Given the description of an element on the screen output the (x, y) to click on. 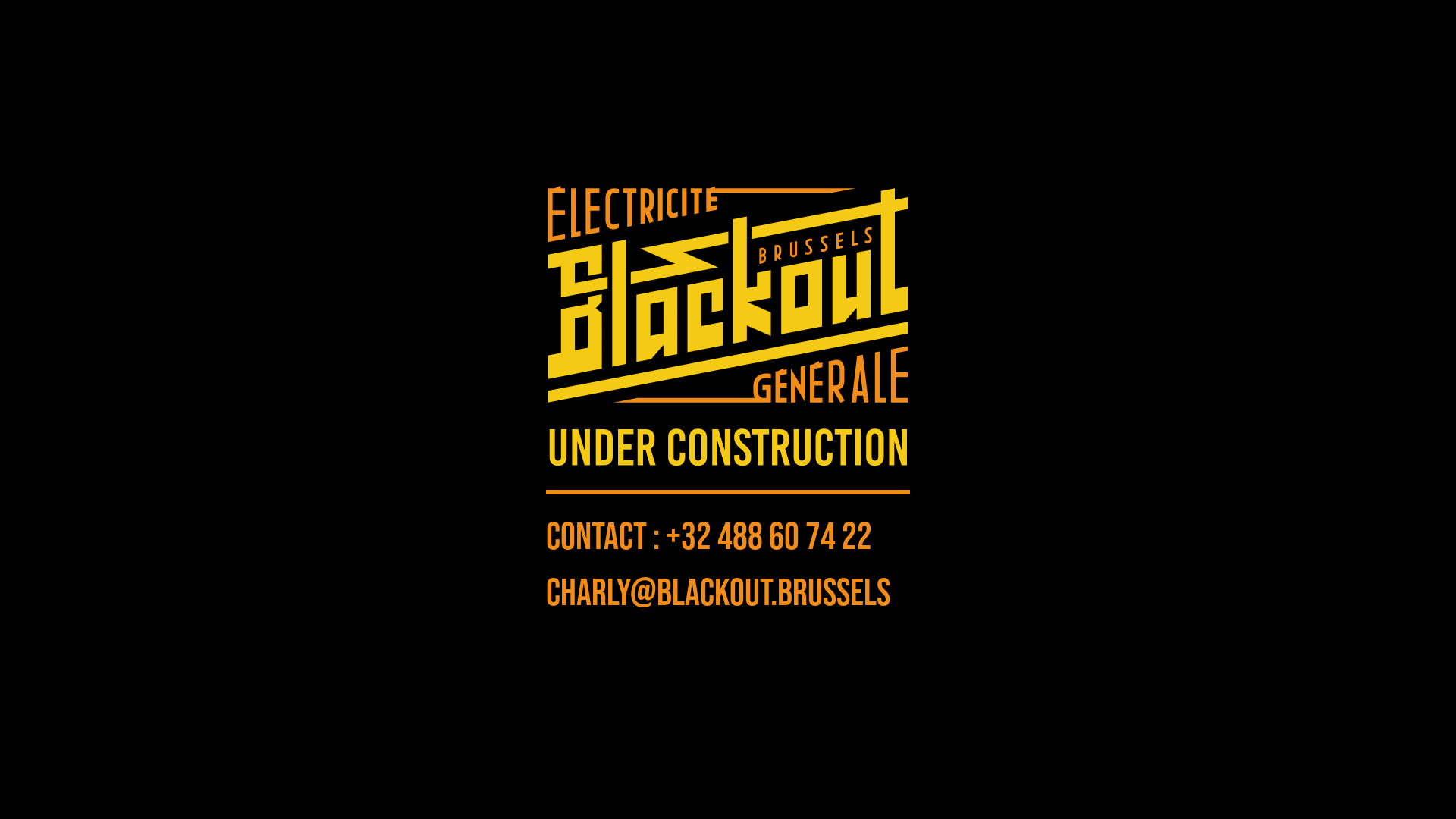
charly@blackout.brussels Element type: text (718, 593)
+32 488 60 74 22 Element type: text (768, 537)
